Given the description of an element on the screen output the (x, y) to click on. 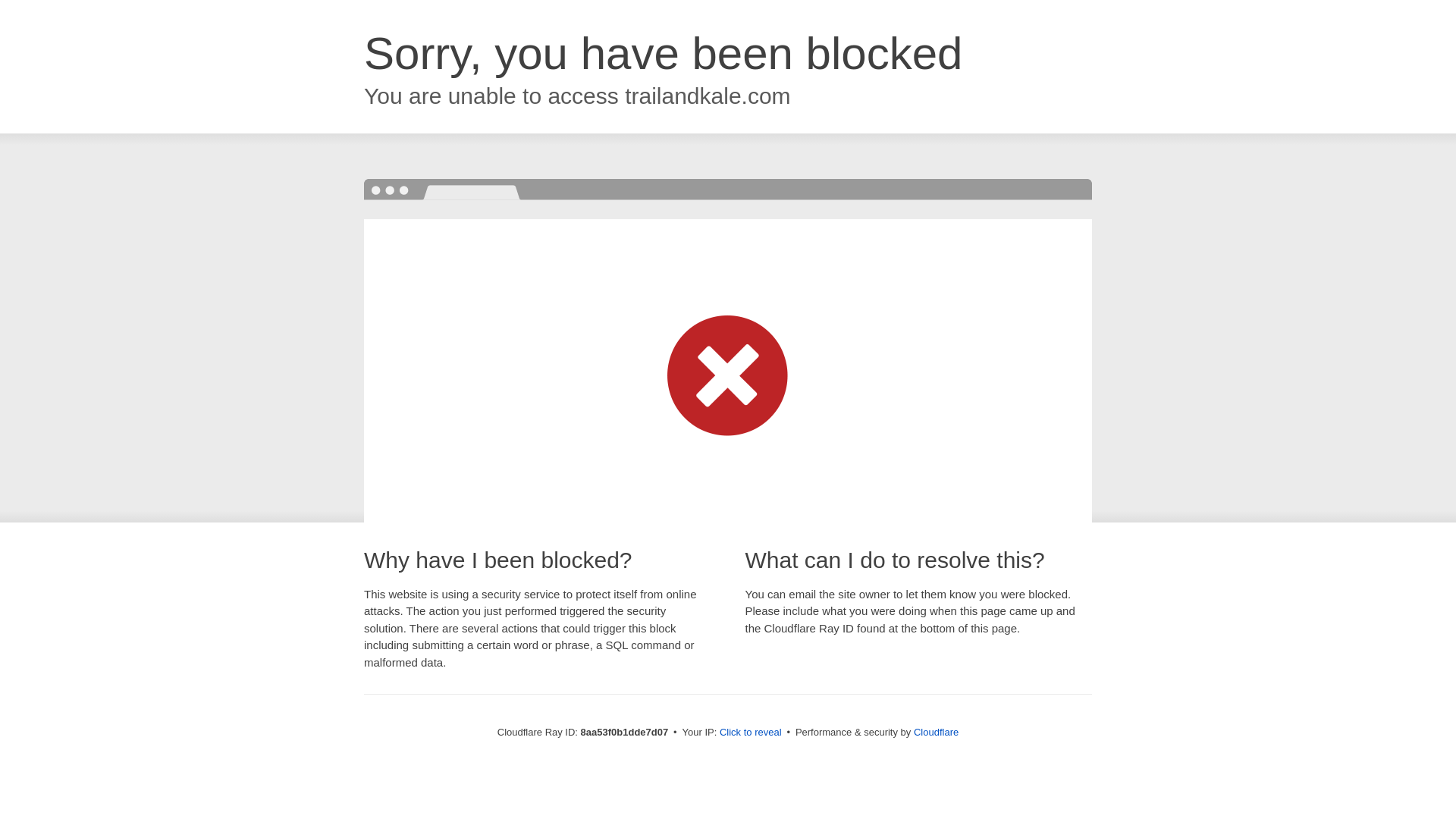
Cloudflare (936, 731)
Click to reveal (750, 732)
